Given the description of an element on the screen output the (x, y) to click on. 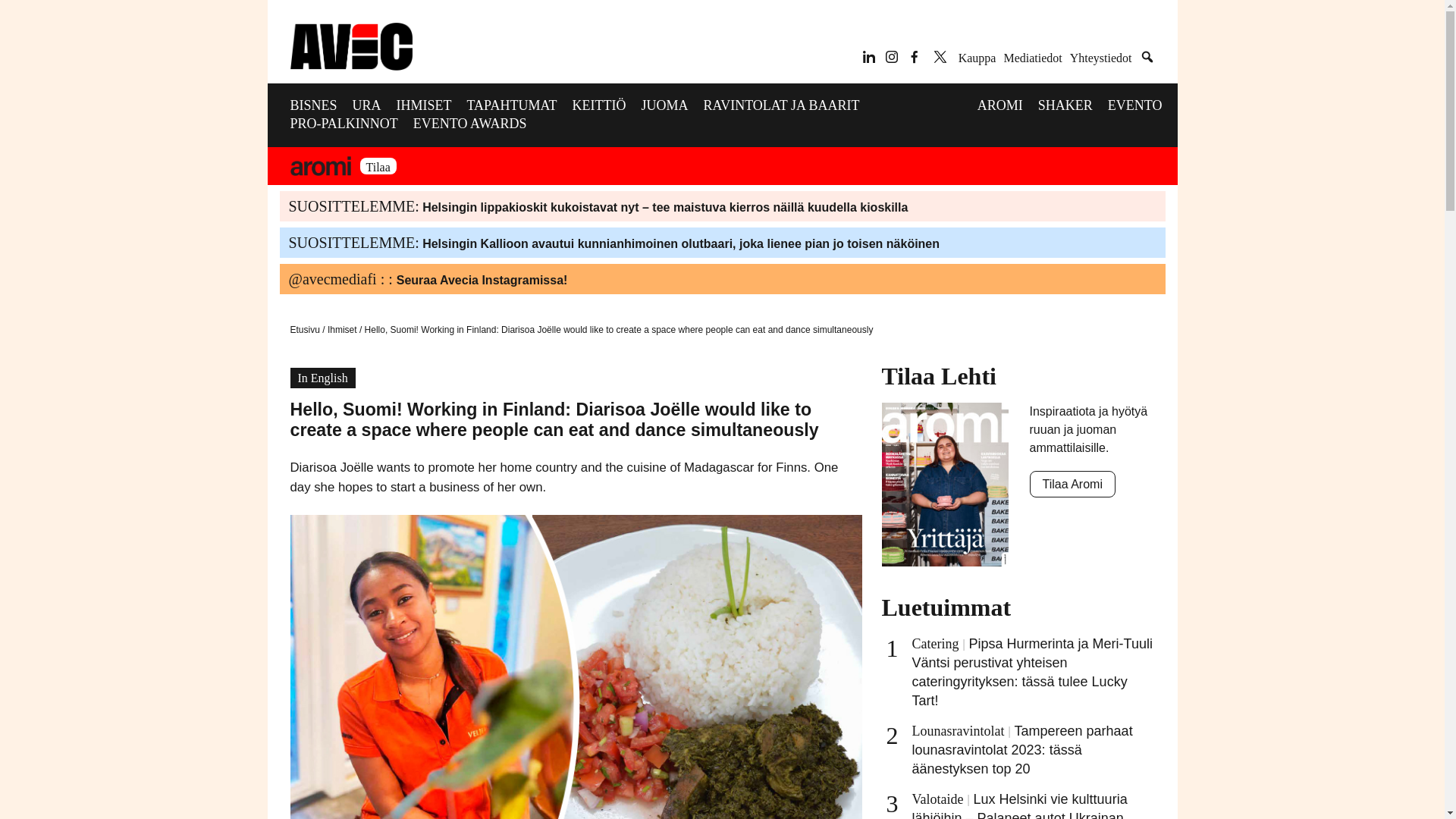
Mediatiedot (1032, 57)
BISNES (320, 105)
Kauppa (976, 57)
Yhteystiedot (1101, 57)
